Given the description of an element on the screen output the (x, y) to click on. 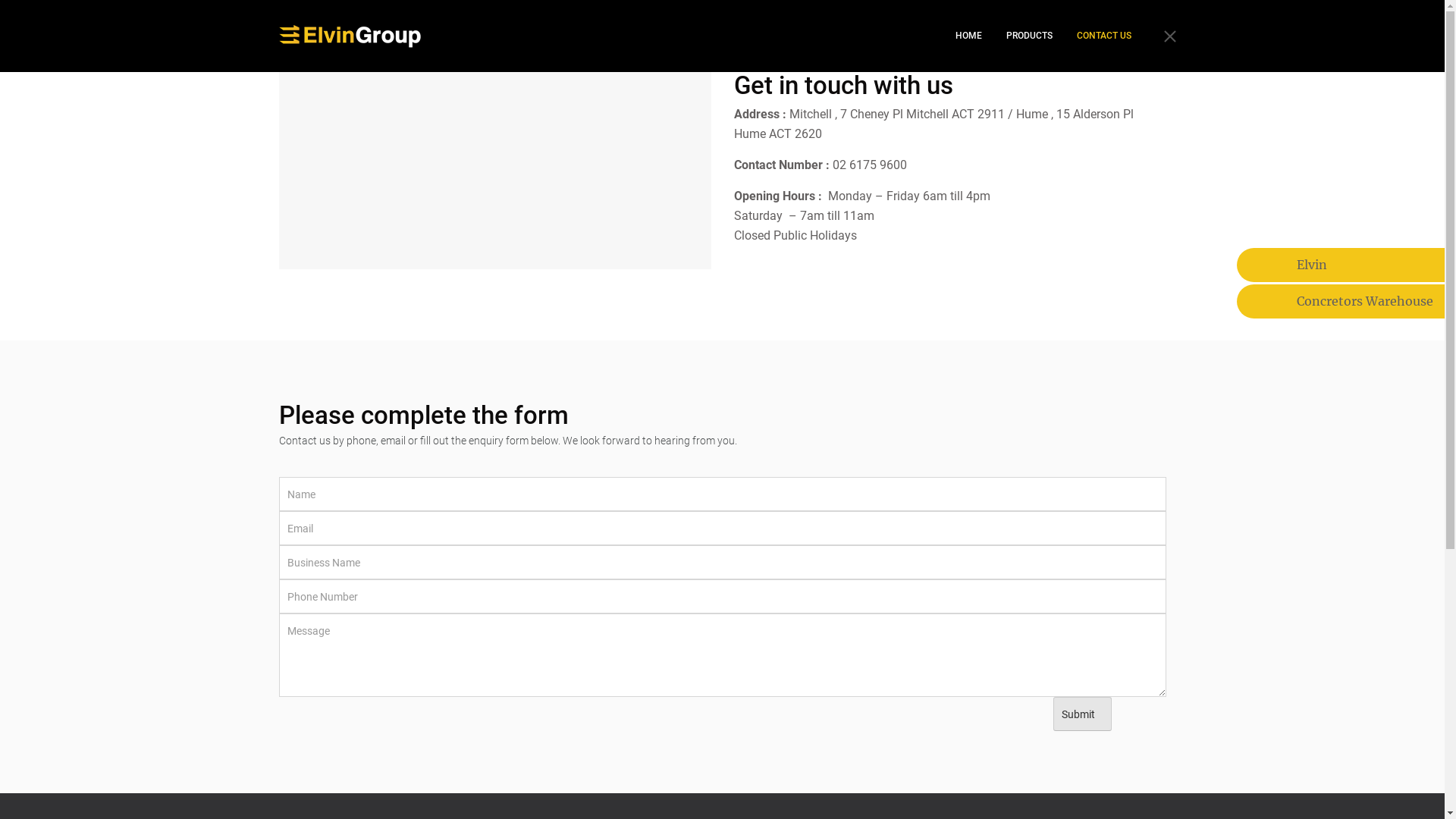
Concretors Warehouse Element type: text (1349, 301)
HOME Element type: text (968, 36)
CONTACT US Element type: text (1103, 36)
Elvin Element type: text (1349, 264)
PRODUCTS Element type: text (1028, 36)
Submit Element type: text (1081, 713)
